Given the description of an element on the screen output the (x, y) to click on. 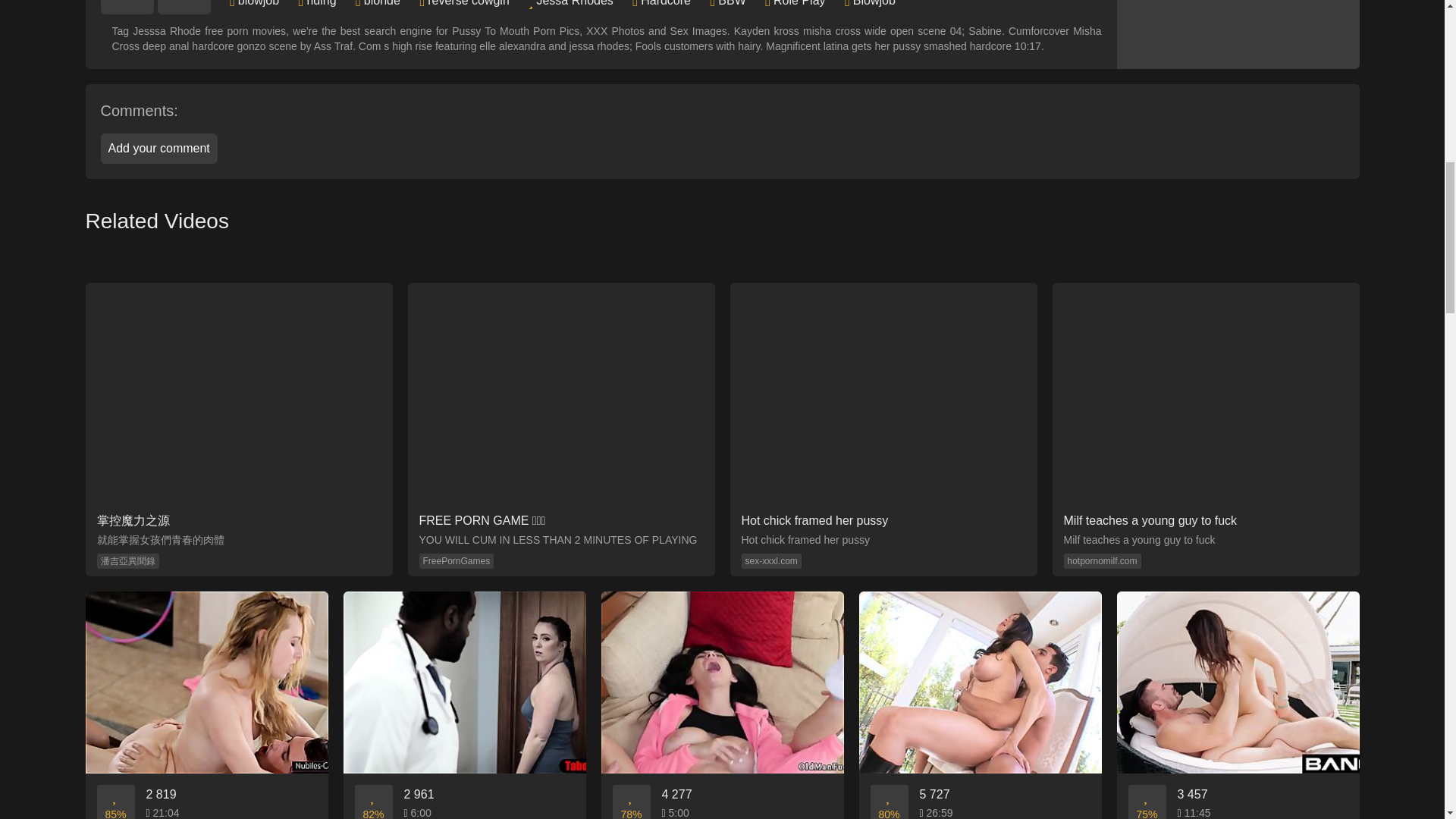
riding (320, 3)
Jessa Rhodes (573, 3)
Like! (126, 7)
reverse cowgirl (468, 3)
Role Play (799, 3)
Hardcore (665, 3)
blonde (382, 3)
Sheila Marie came to perform for the (979, 705)
Dislike! (184, 7)
